Given the description of an element on the screen output the (x, y) to click on. 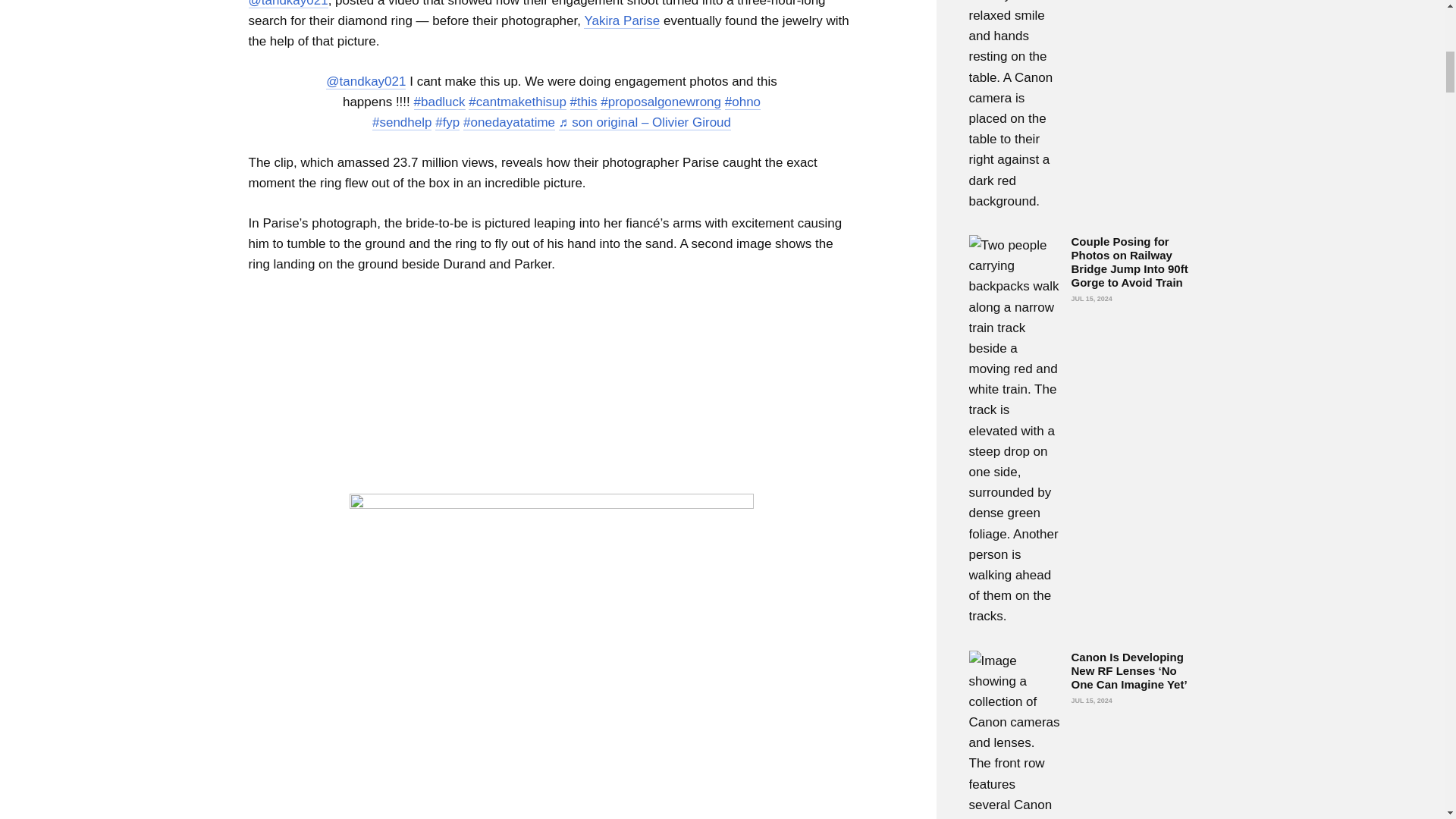
badluck (439, 102)
sendhelp (401, 122)
proposalgonewrong (659, 102)
onedayatatime (508, 122)
Yakira Parise (621, 20)
fyp (447, 122)
ohno (742, 102)
this (583, 102)
cantmakethisup (517, 102)
